Given the description of an element on the screen output the (x, y) to click on. 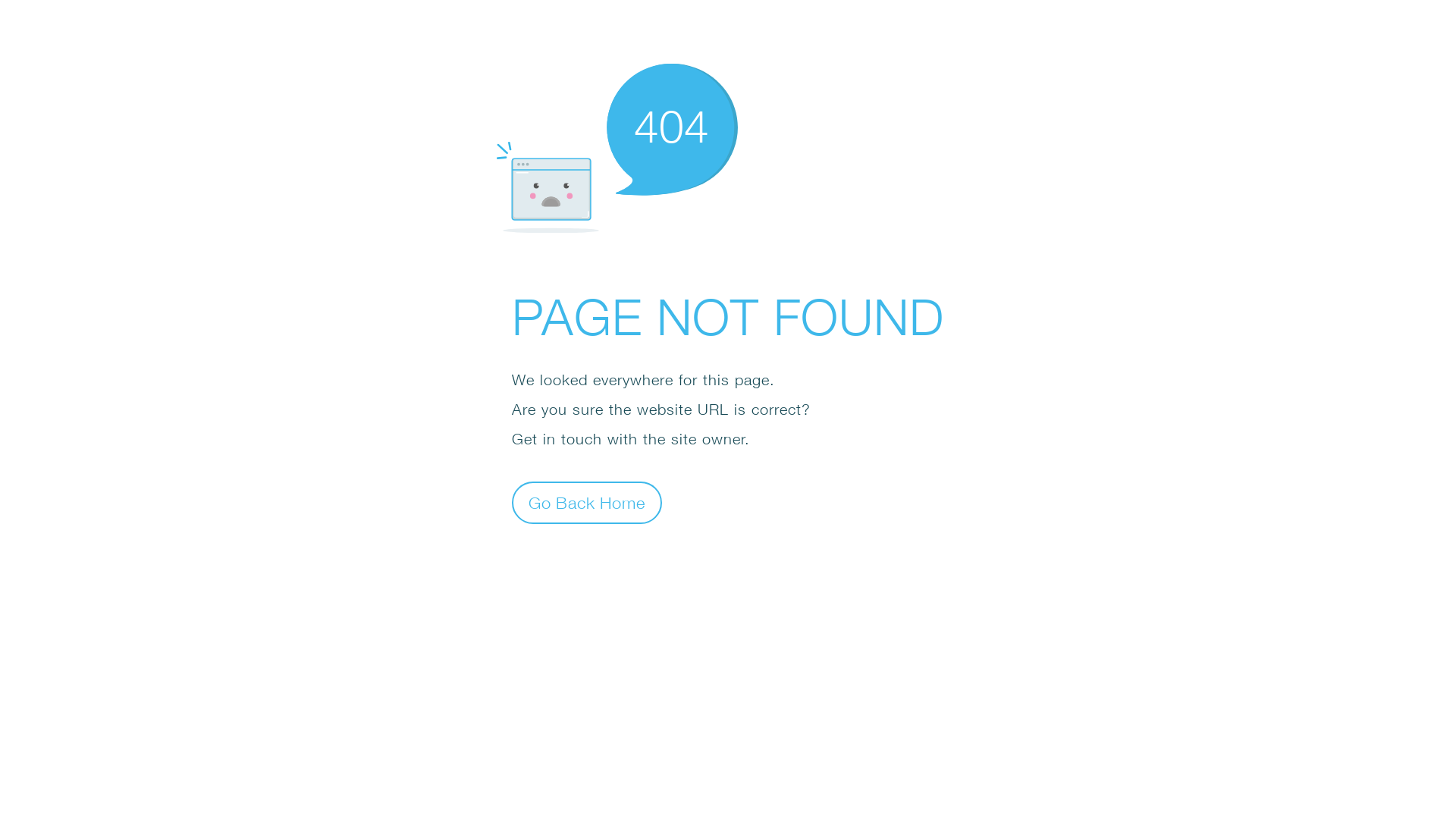
Go Back Home Element type: text (586, 502)
